Given the description of an element on the screen output the (x, y) to click on. 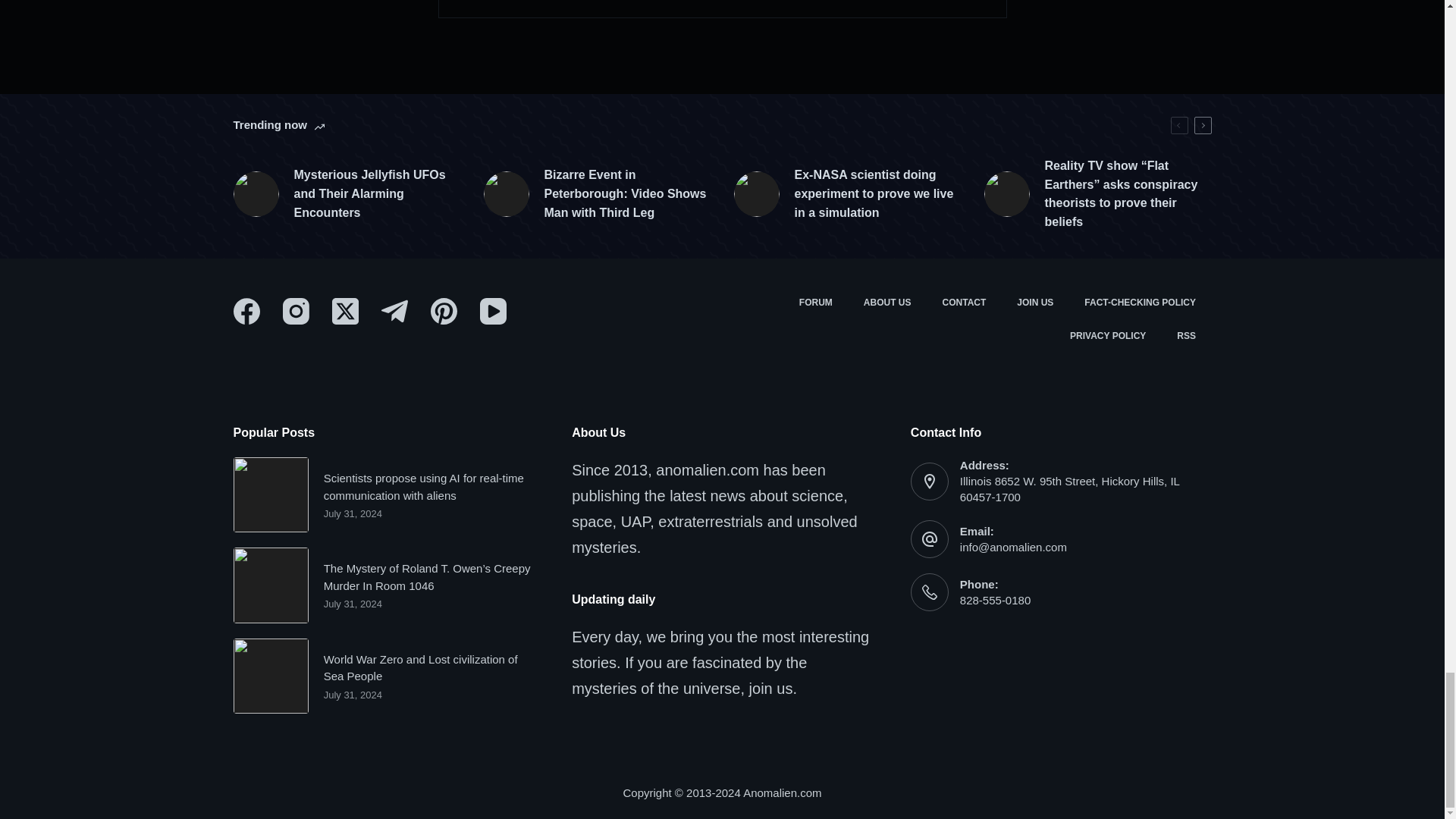
Comments (722, 9)
Contact us (964, 303)
Discussion Forum (815, 303)
